Given the description of an element on the screen output the (x, y) to click on. 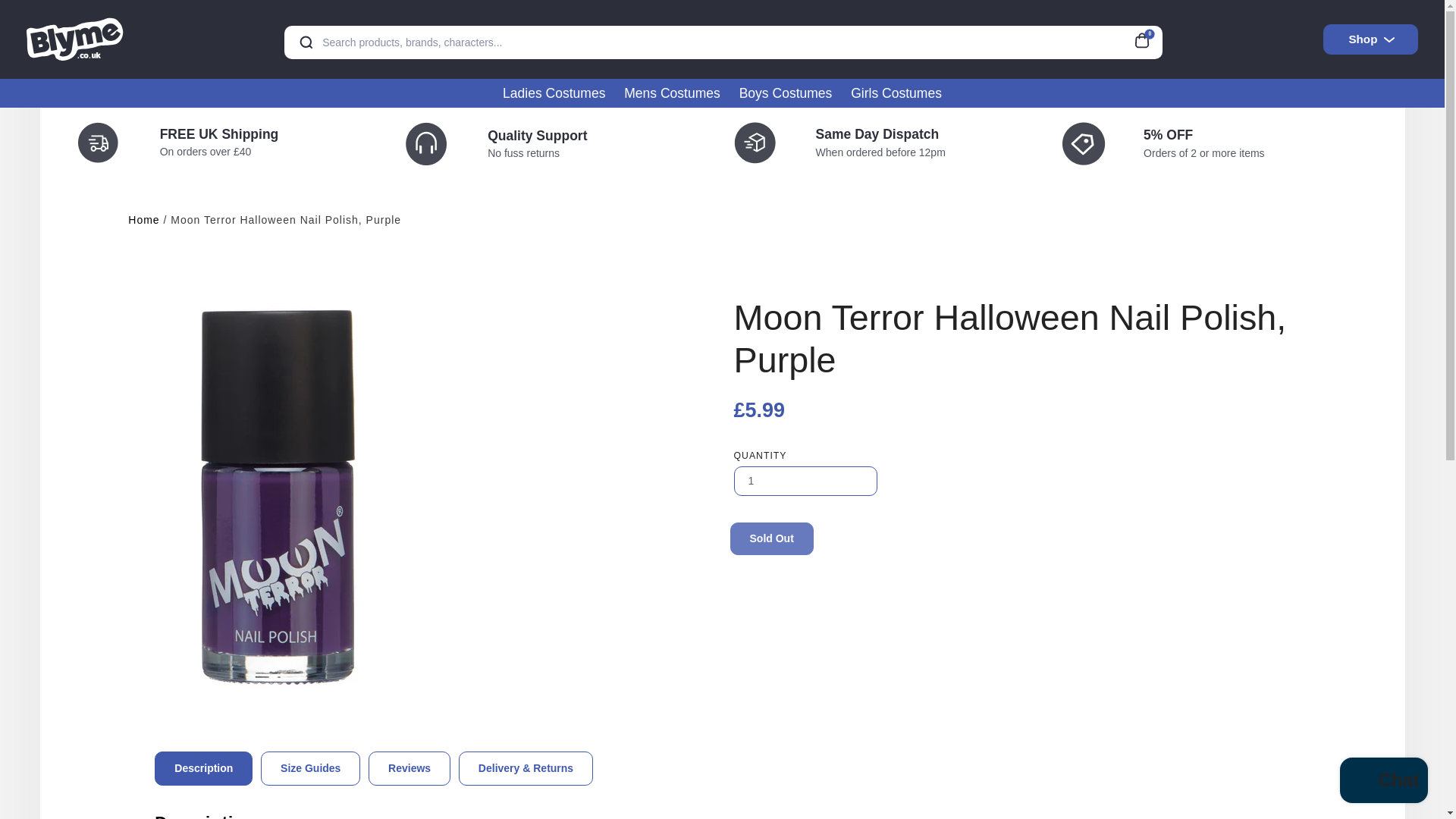
View your Basket (1147, 38)
1 (805, 481)
0 (1147, 38)
Home (143, 220)
0 (1147, 38)
